Given the description of an element on the screen output the (x, y) to click on. 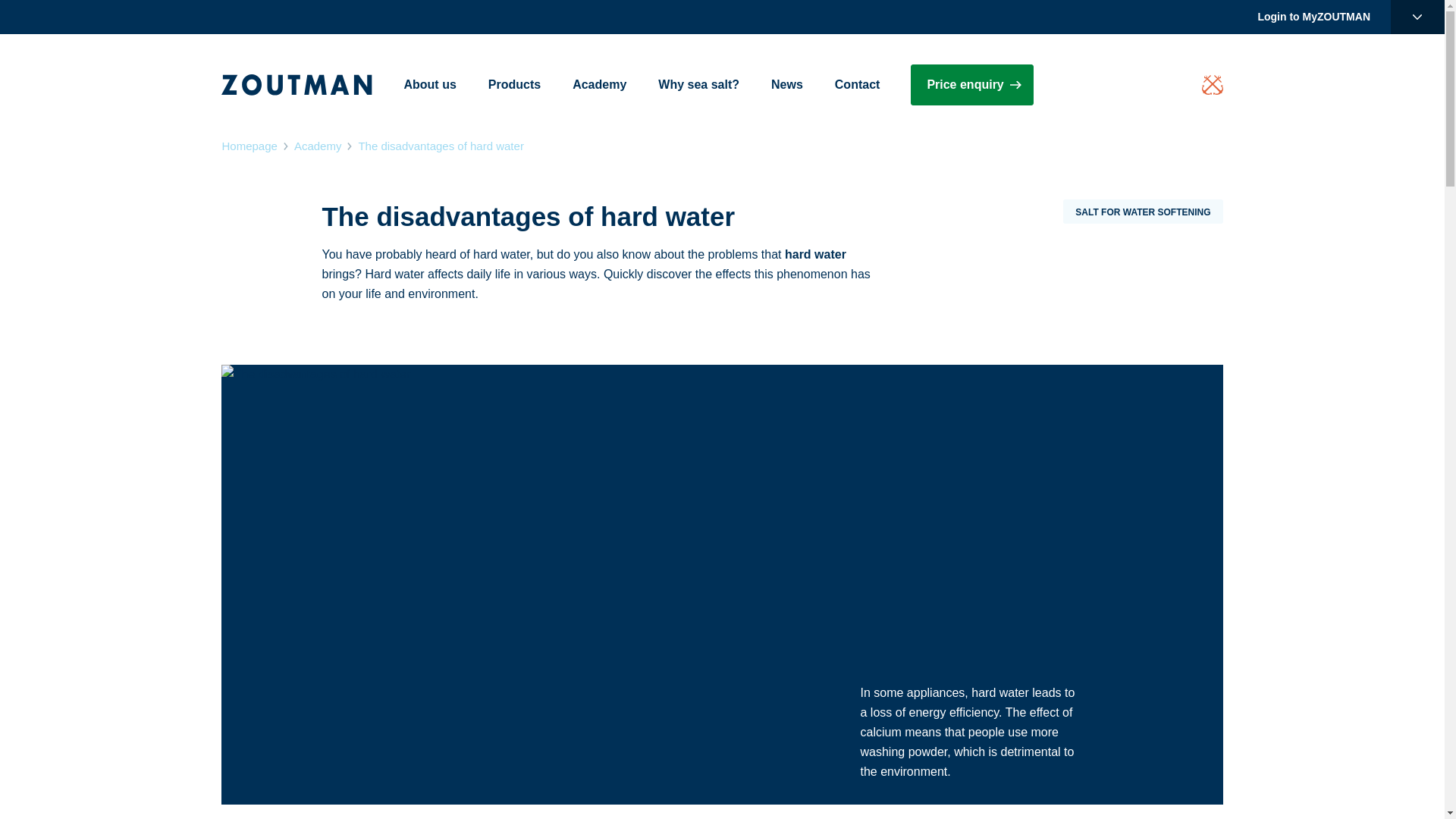
Why sea salt? (698, 84)
Academy (599, 84)
Products (514, 84)
Contact (857, 84)
Login to MyZOUTMAN (1312, 17)
Price enquiry (971, 84)
Salt for water softening (1142, 211)
News (786, 84)
About us (429, 84)
